Given the description of an element on the screen output the (x, y) to click on. 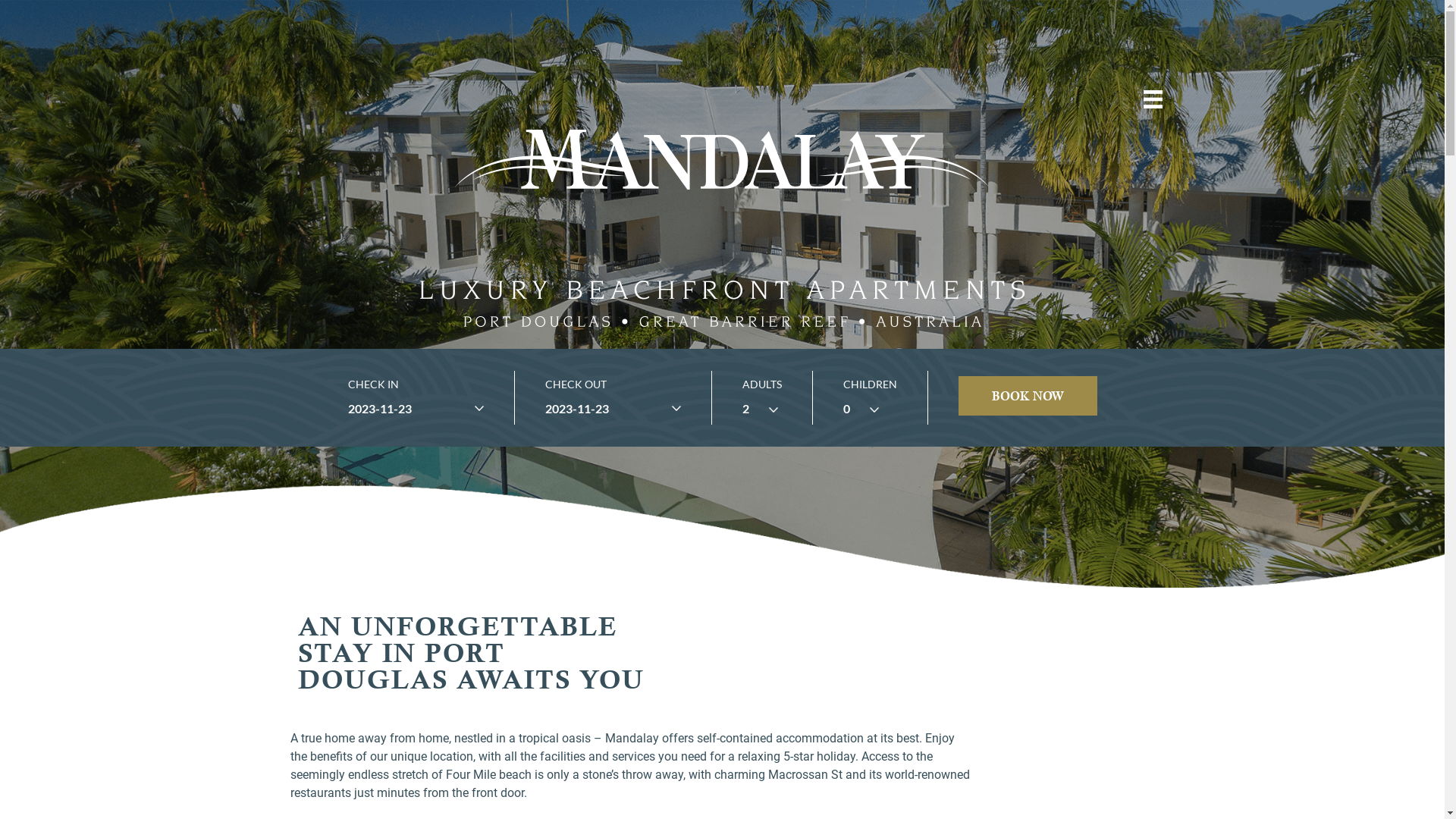
BOOK NOW Element type: text (1027, 395)
